Given the description of an element on the screen output the (x, y) to click on. 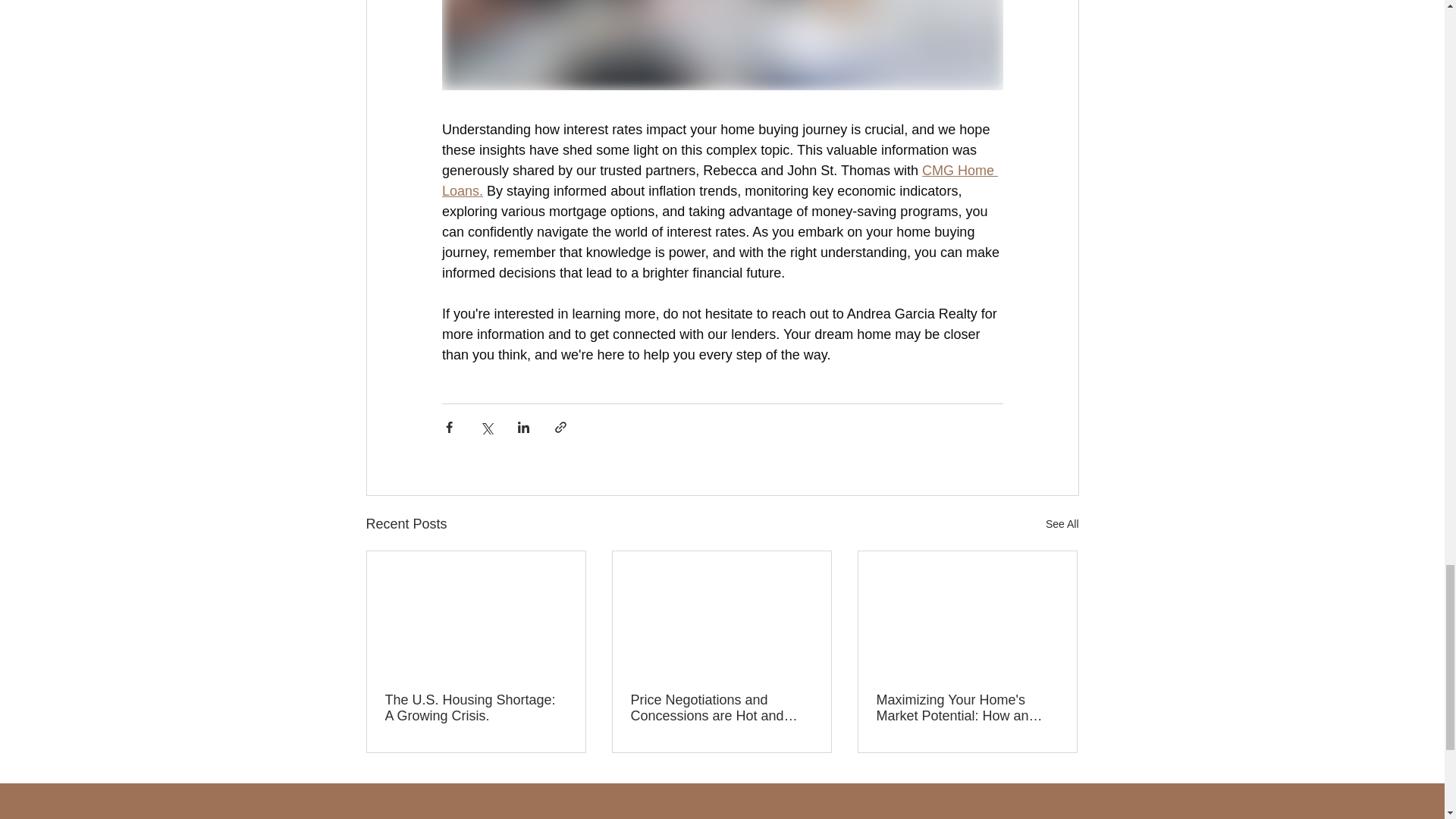
The U.S. Housing Shortage: A Growing Crisis. (476, 707)
See All (1061, 524)
CMG Home Loans. (719, 180)
